Given the description of an element on the screen output the (x, y) to click on. 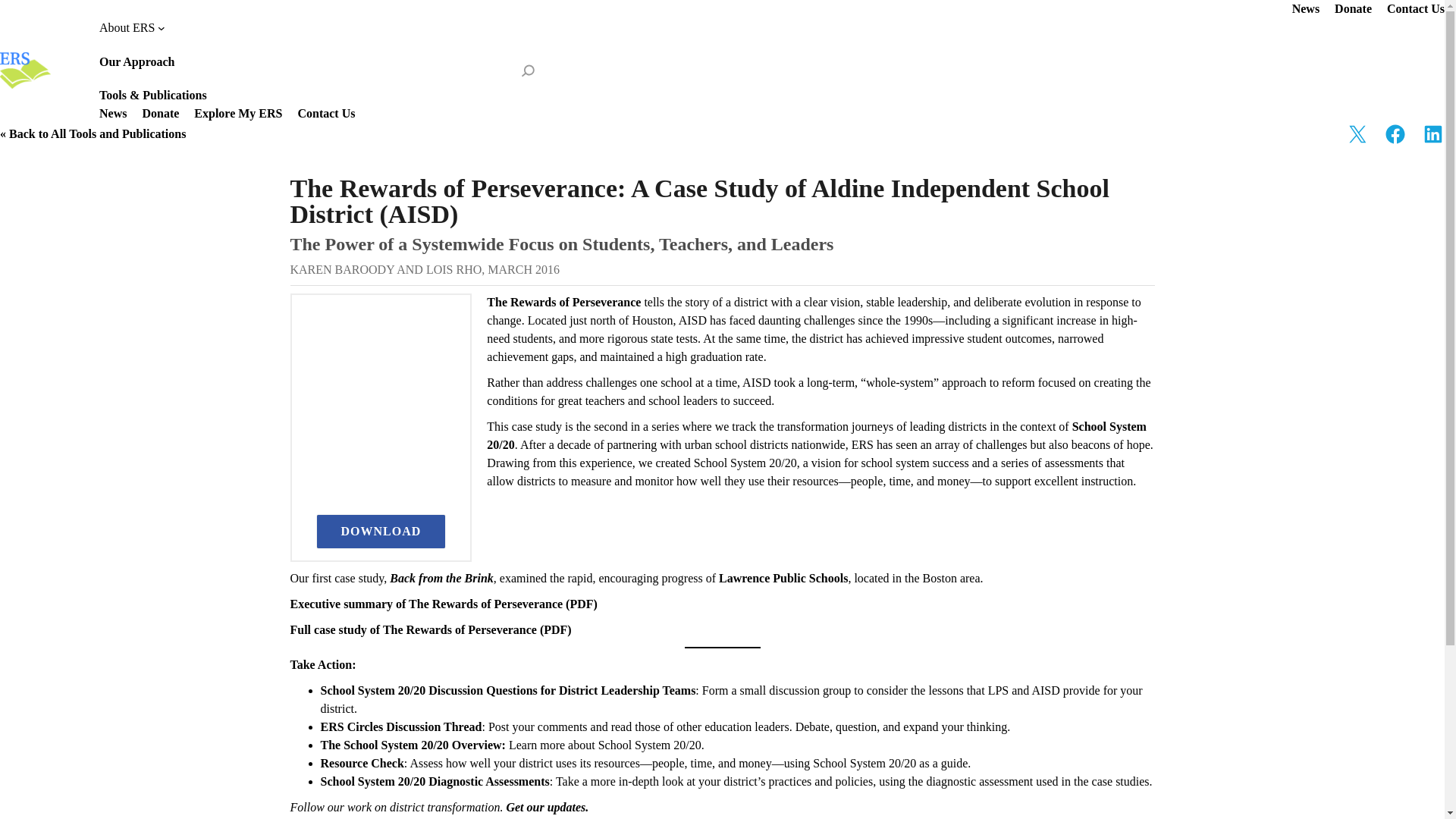
Our Approach (136, 62)
The Rewards of Perseverance (563, 301)
Donate (160, 113)
Link to sign up for e-newsletter (546, 807)
About ERS (132, 27)
Donate (1353, 9)
Back from the Brink (440, 577)
Explore My ERS (237, 113)
DOWNLOAD (381, 531)
Share on Facebook (1395, 133)
Click here to search (527, 69)
News (112, 113)
News (1305, 9)
Resource Check (361, 762)
Contact Us (326, 113)
